Given the description of an element on the screen output the (x, y) to click on. 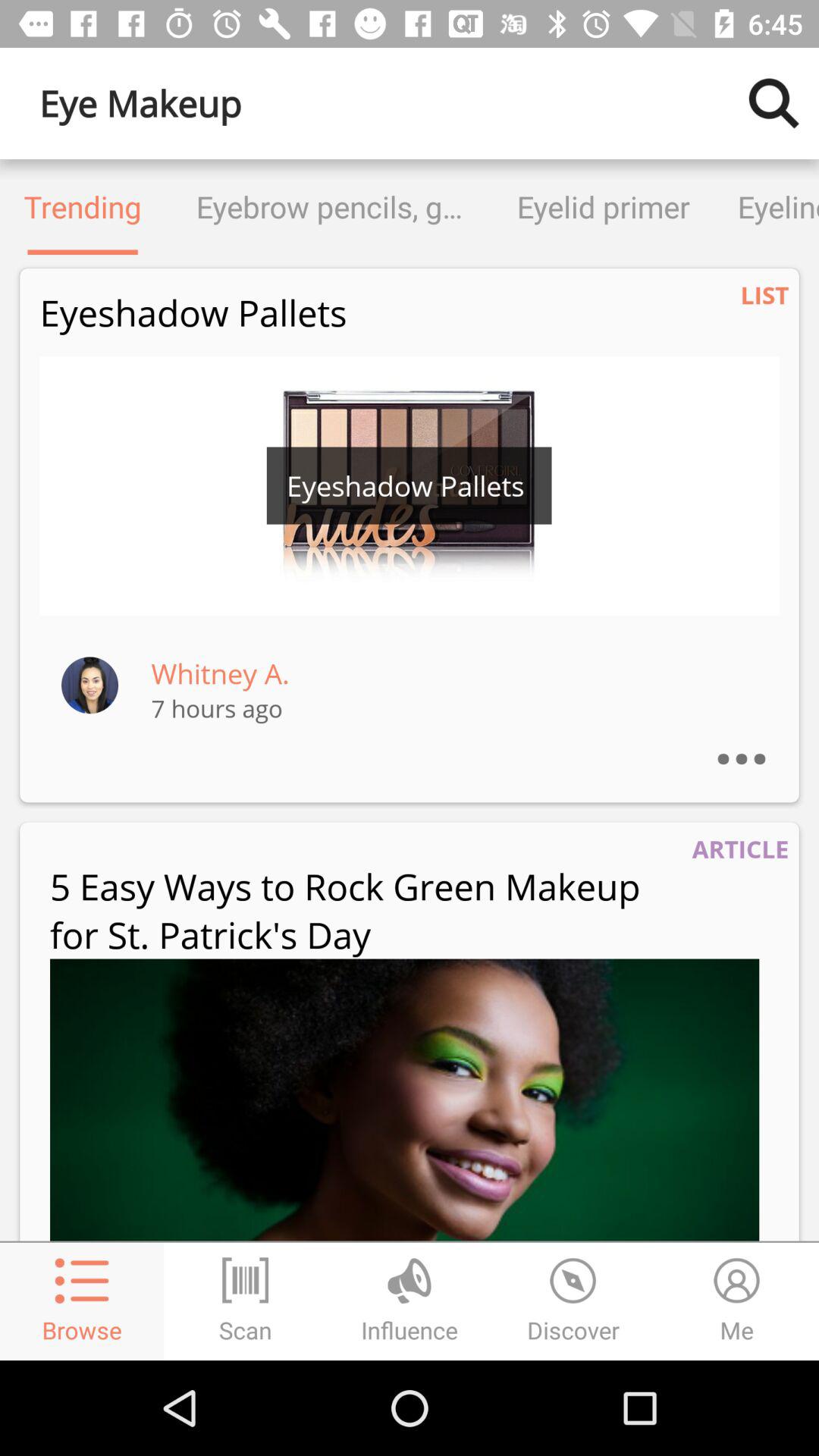
scroll to the article item (740, 848)
